Given the description of an element on the screen output the (x, y) to click on. 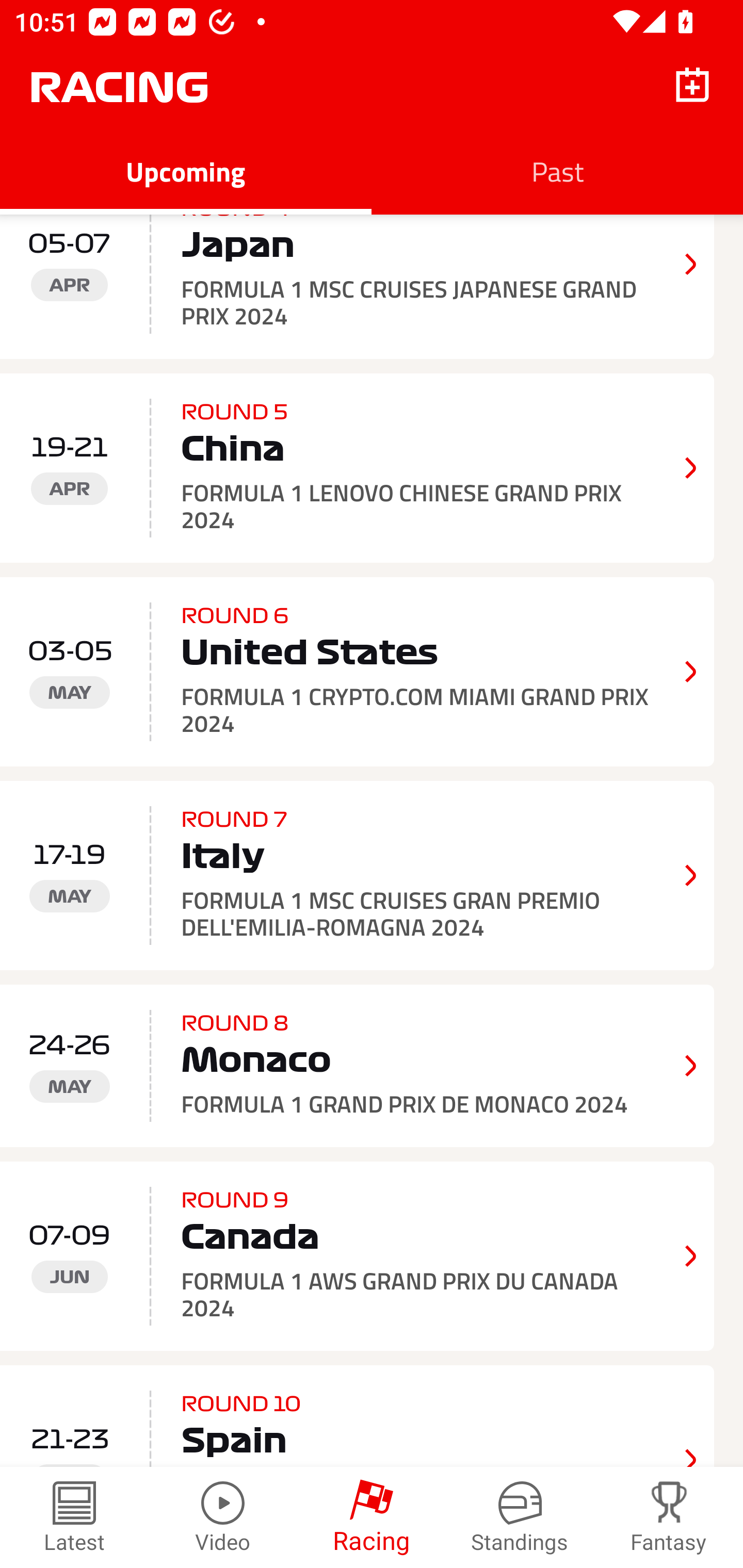
Past (557, 171)
Latest (74, 1517)
Video (222, 1517)
Standings (519, 1517)
Fantasy (668, 1517)
